Given the description of an element on the screen output the (x, y) to click on. 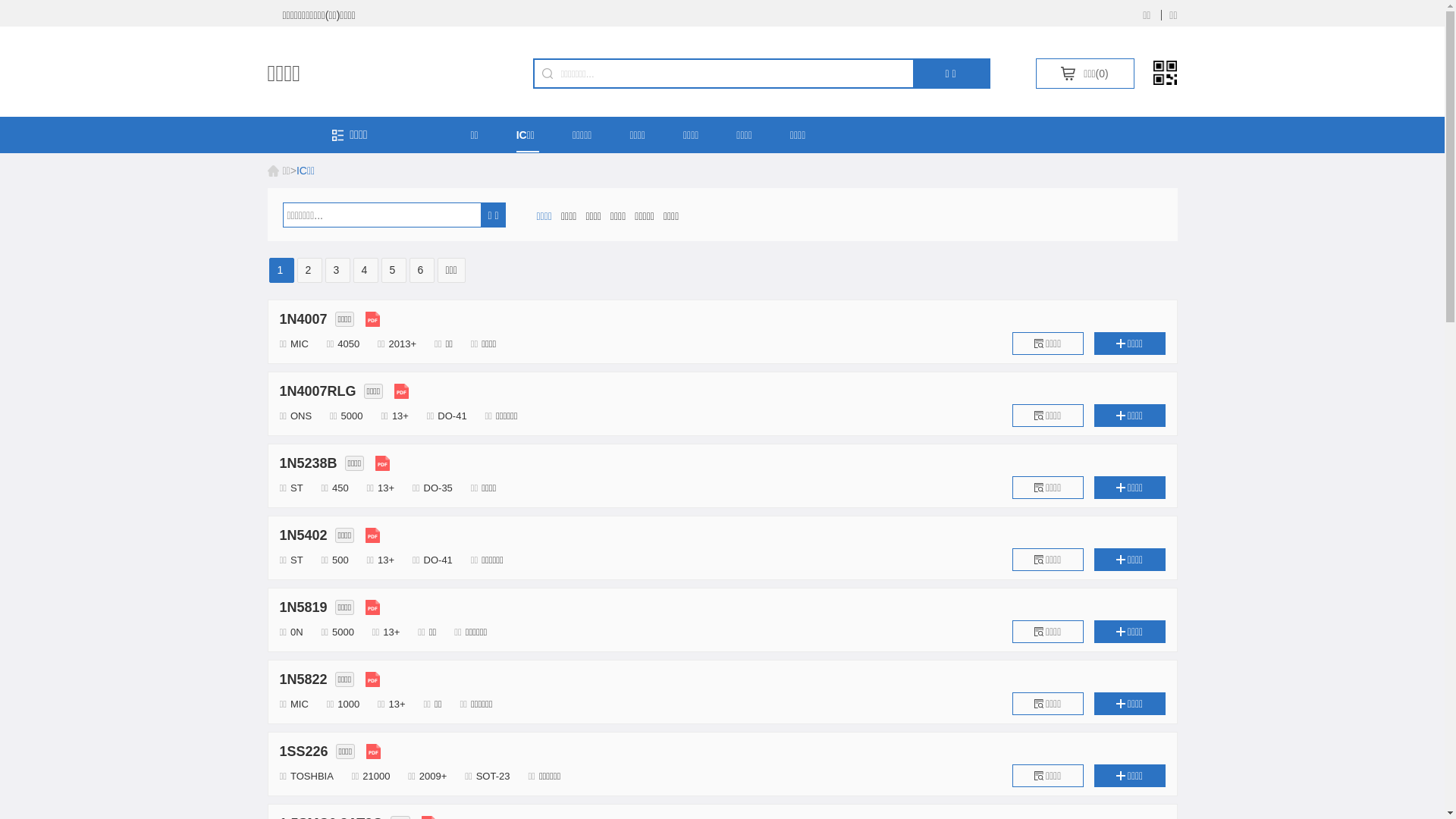
4 Element type: text (365, 269)
1N5819 Element type: text (302, 607)
2 Element type: text (309, 269)
1N5238B Element type: text (307, 462)
1SS226 Element type: text (303, 751)
5 Element type: text (392, 269)
1 Element type: text (280, 269)
6 Element type: text (421, 269)
1N4007RLG Element type: text (317, 390)
3 Element type: text (336, 269)
1N5402 Element type: text (302, 534)
1N4007 Element type: text (302, 318)
1N5822 Element type: text (302, 679)
